Given the description of an element on the screen output the (x, y) to click on. 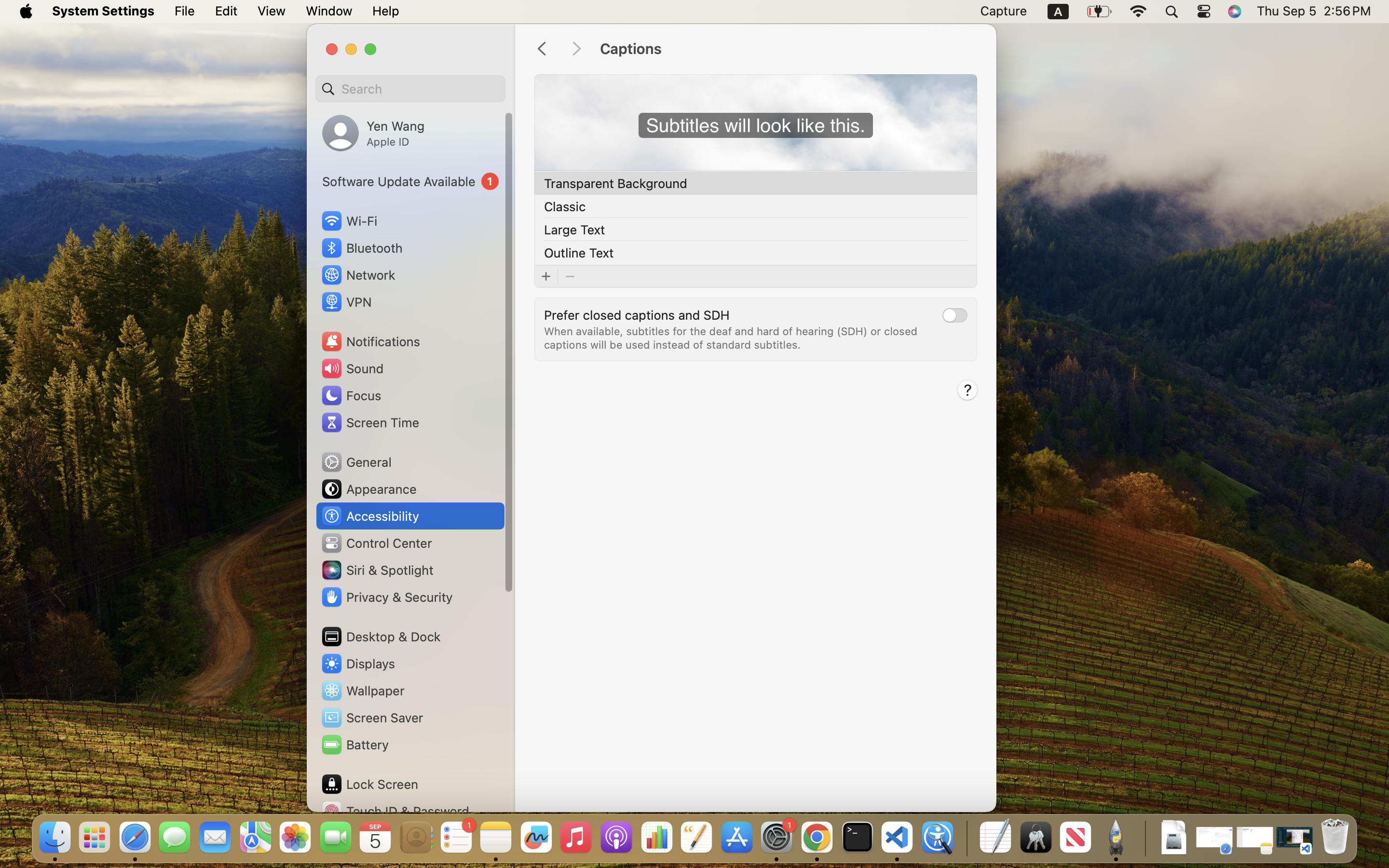
Focus Element type: AXStaticText (350, 394)
VPN Element type: AXStaticText (345, 301)
Screen Time Element type: AXStaticText (369, 422)
General Element type: AXStaticText (355, 461)
Wallpaper Element type: AXStaticText (362, 690)
